Given the description of an element on the screen output the (x, y) to click on. 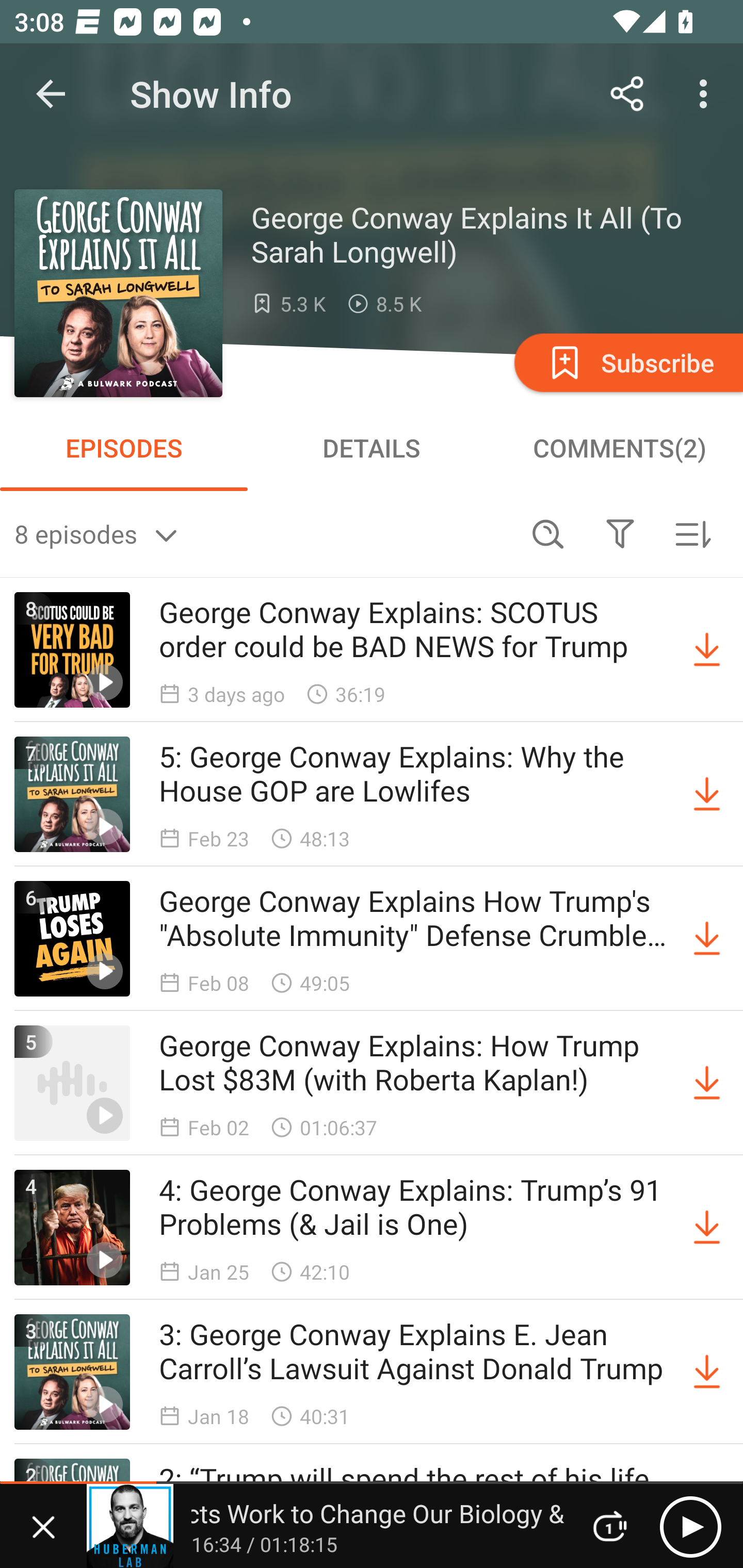
Navigate up (50, 93)
Share (626, 93)
More options (706, 93)
Subscribe (627, 361)
EPISODES (123, 447)
DETAILS (371, 447)
COMMENTS(2) (619, 447)
8 episodes  (262, 533)
 Search (547, 533)
 (619, 533)
 Sorted by newest first (692, 533)
Download (706, 649)
Download (706, 793)
Download (706, 939)
Download (706, 1083)
Download (706, 1227)
Download (706, 1371)
Play (690, 1526)
